Given the description of an element on the screen output the (x, y) to click on. 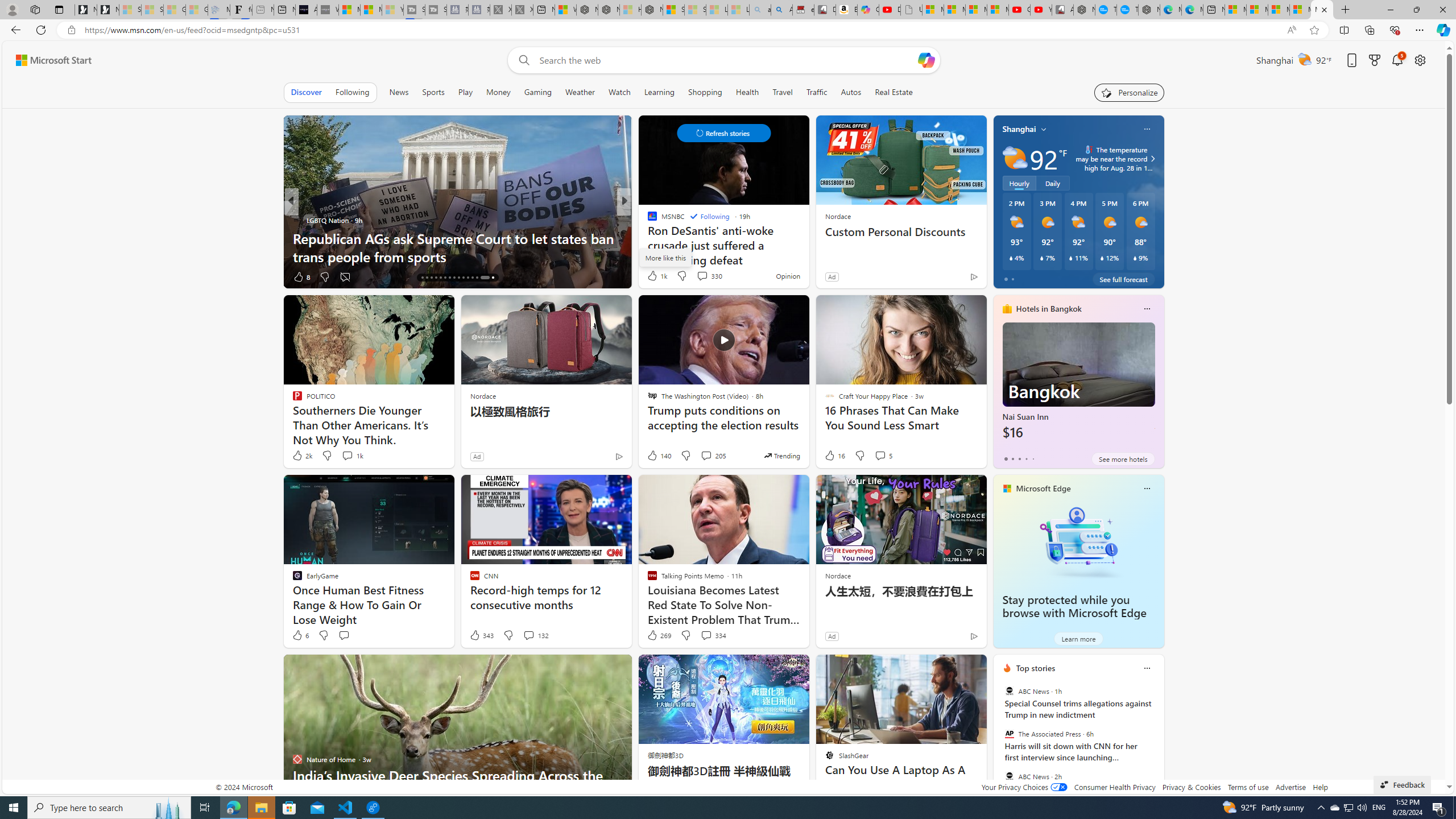
1k Like (656, 275)
previous (998, 741)
Enter your search term (726, 59)
6 Like (299, 634)
See more hotels (1123, 459)
Daily (1052, 183)
Shanghai (1018, 128)
What's the best AI voice generator? - voice.ai - Sleeping (327, 9)
AutomationID: tab-21 (444, 277)
AutomationID: tab-19 (435, 277)
